Given the description of an element on the screen output the (x, y) to click on. 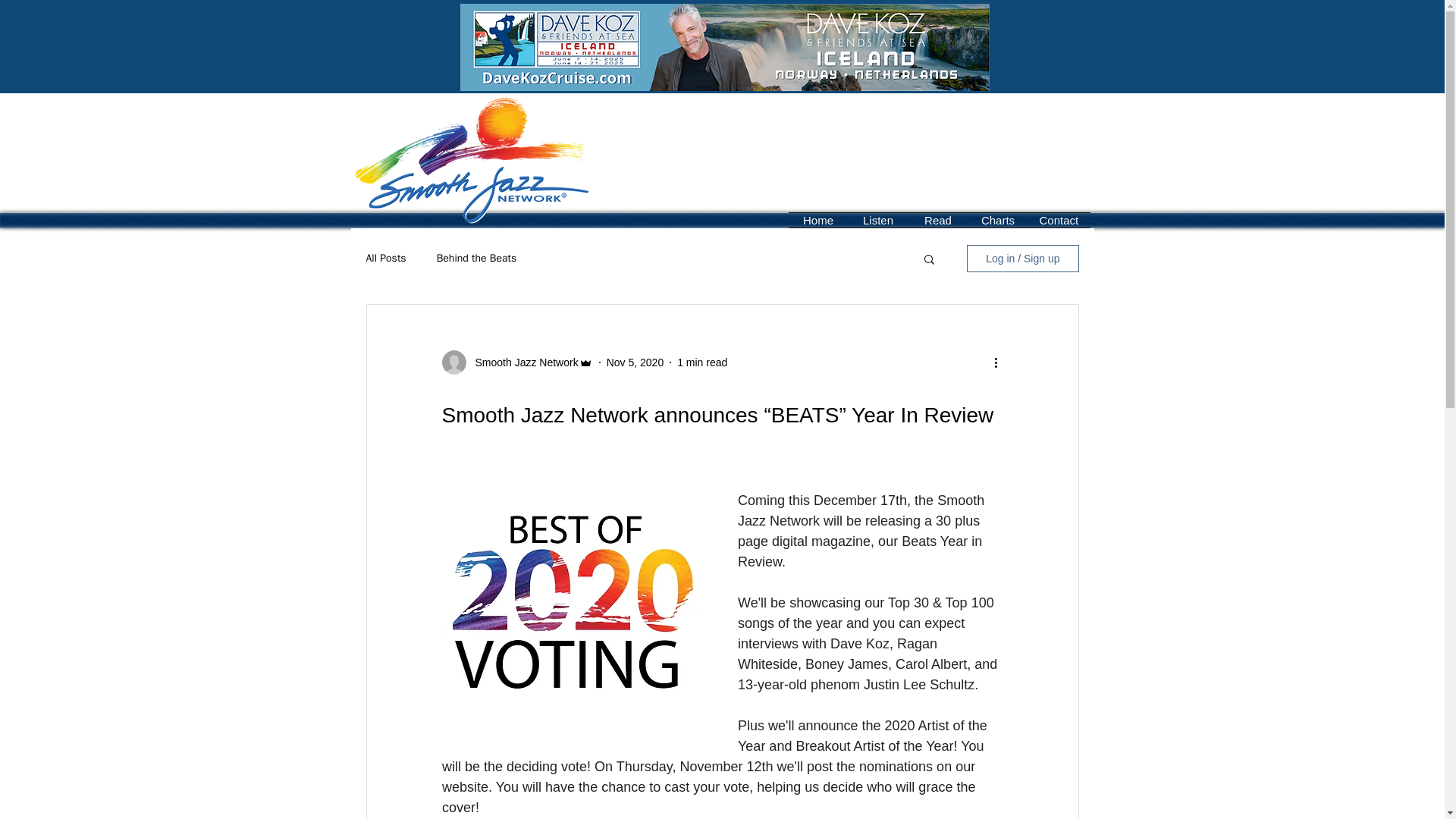
Smooth Jazz Network (521, 362)
Behind the Beats (476, 258)
Nov 5, 2020 (635, 362)
Home (818, 219)
All Posts (385, 258)
1 min read (701, 362)
